Given the description of an element on the screen output the (x, y) to click on. 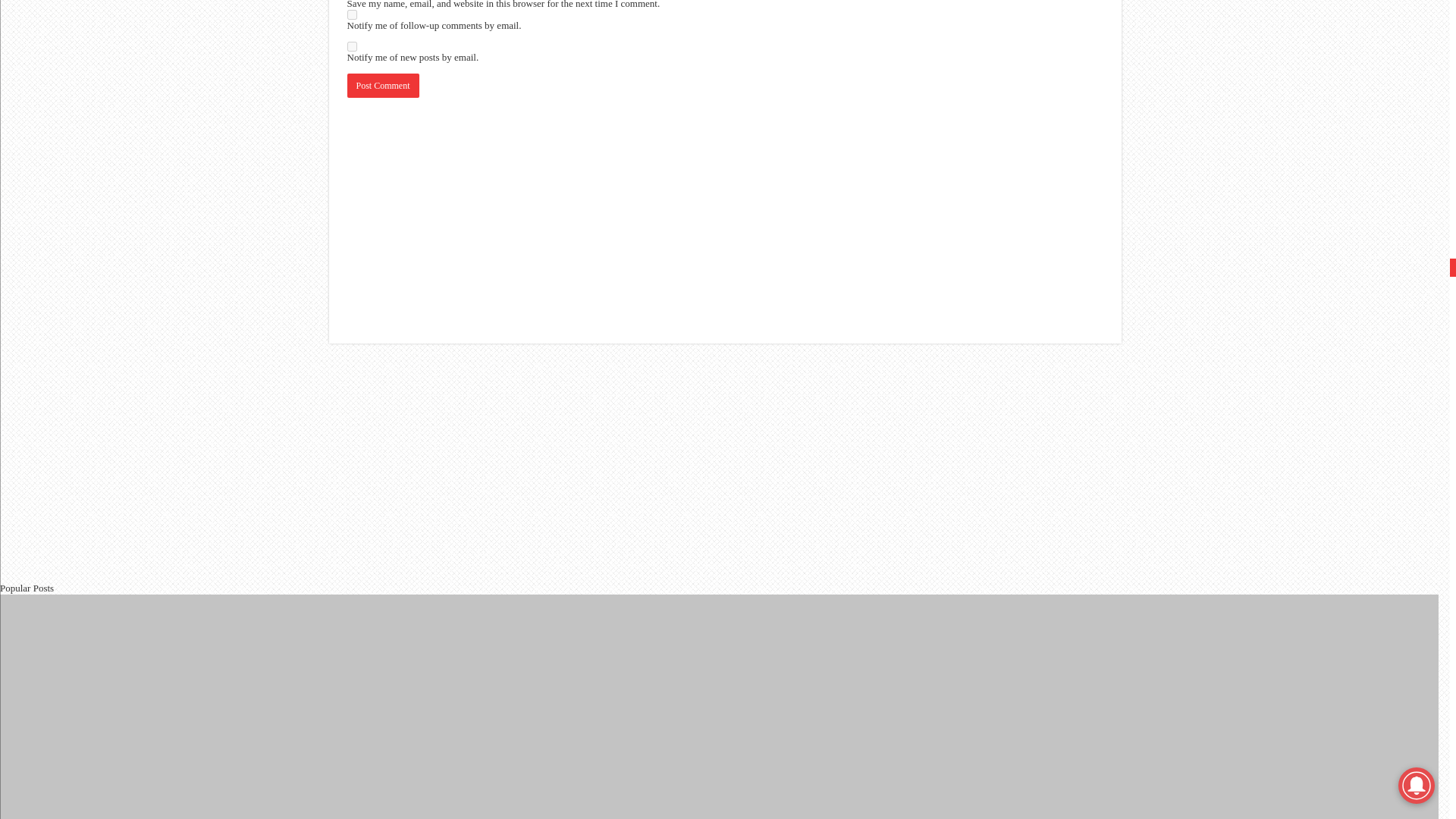
subscribe (351, 14)
Post Comment (383, 85)
subscribe (351, 46)
